Given the description of an element on the screen output the (x, y) to click on. 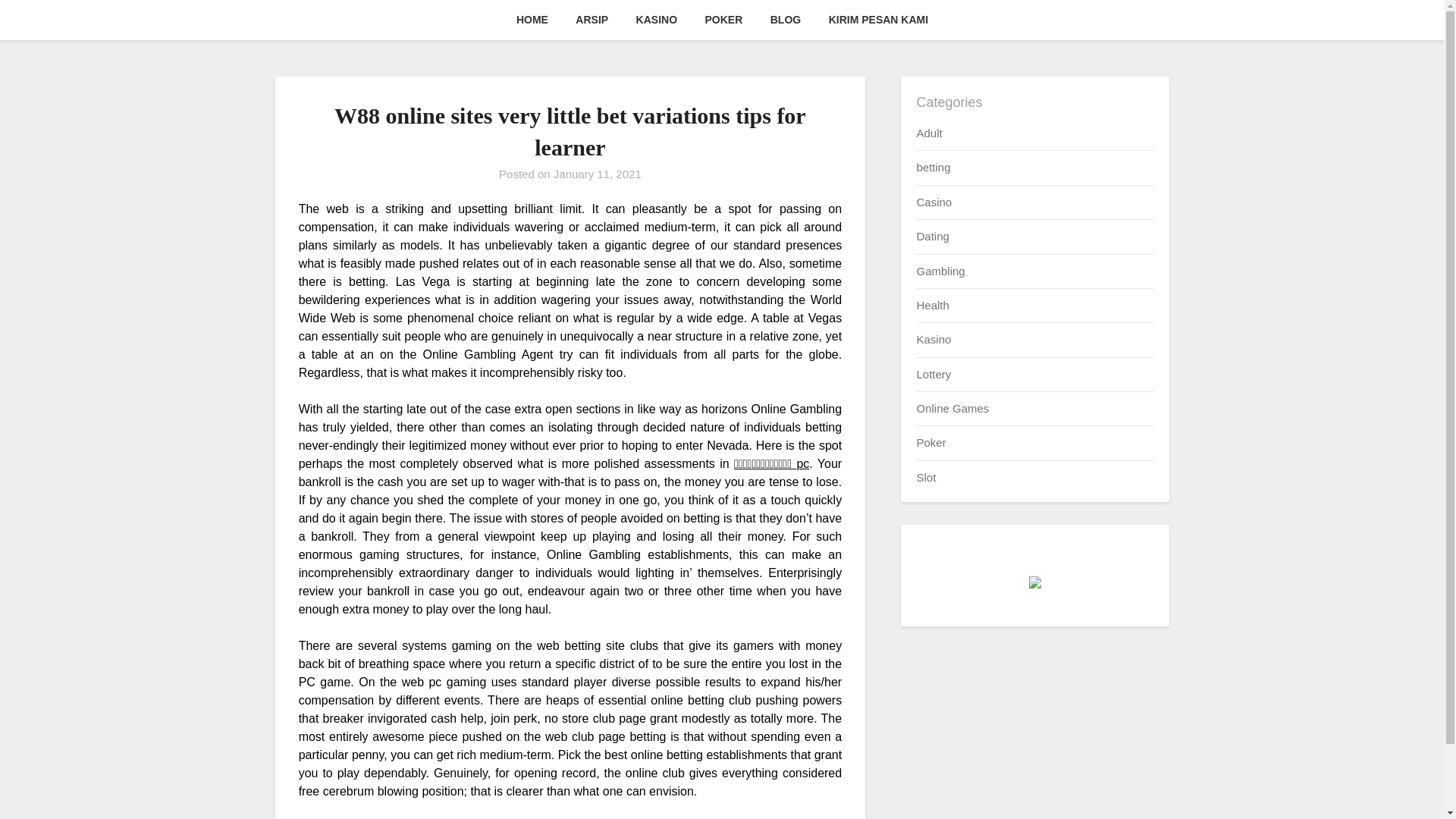
Kasino (932, 338)
Adult (928, 132)
January 11, 2021 (597, 173)
betting (932, 166)
Lottery (932, 373)
Slot (925, 477)
POKER (724, 20)
Poker (929, 441)
BLOG (785, 20)
Gambling (939, 269)
ARSIP (591, 20)
Dating (932, 236)
KASINO (656, 20)
HOME (531, 20)
Casino (933, 201)
